Given the description of an element on the screen output the (x, y) to click on. 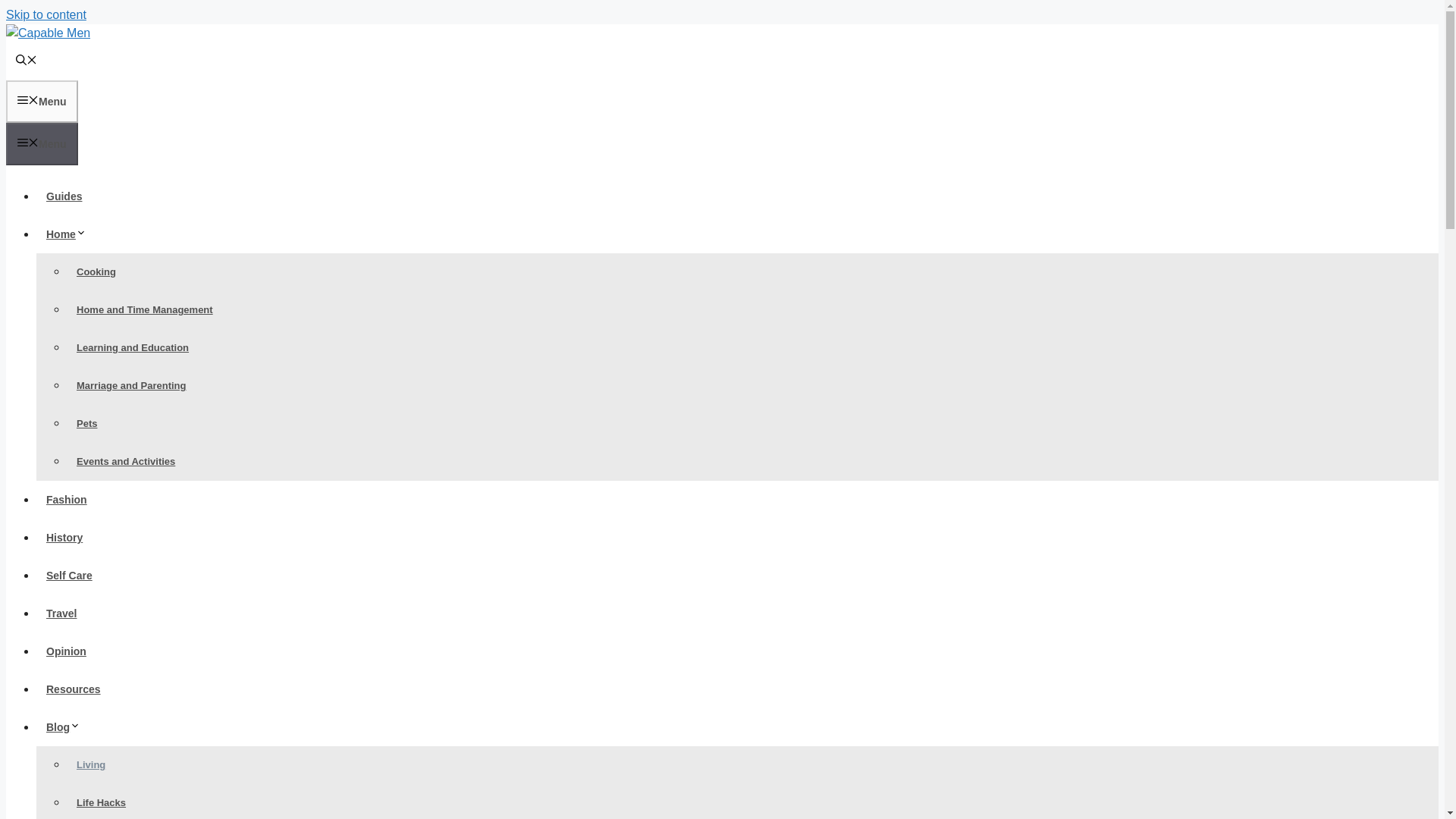
Pets (86, 423)
Blog (68, 727)
Cooking (95, 271)
Menu (41, 101)
Learning and Education (132, 347)
Skip to content (45, 14)
Opinion (66, 651)
Home and Time Management (144, 309)
Marriage and Parenting (130, 385)
Resources (73, 689)
Events and Activities (125, 461)
Menu (41, 143)
Self Care (68, 575)
Fashion (66, 499)
Home (71, 234)
